Given the description of an element on the screen output the (x, y) to click on. 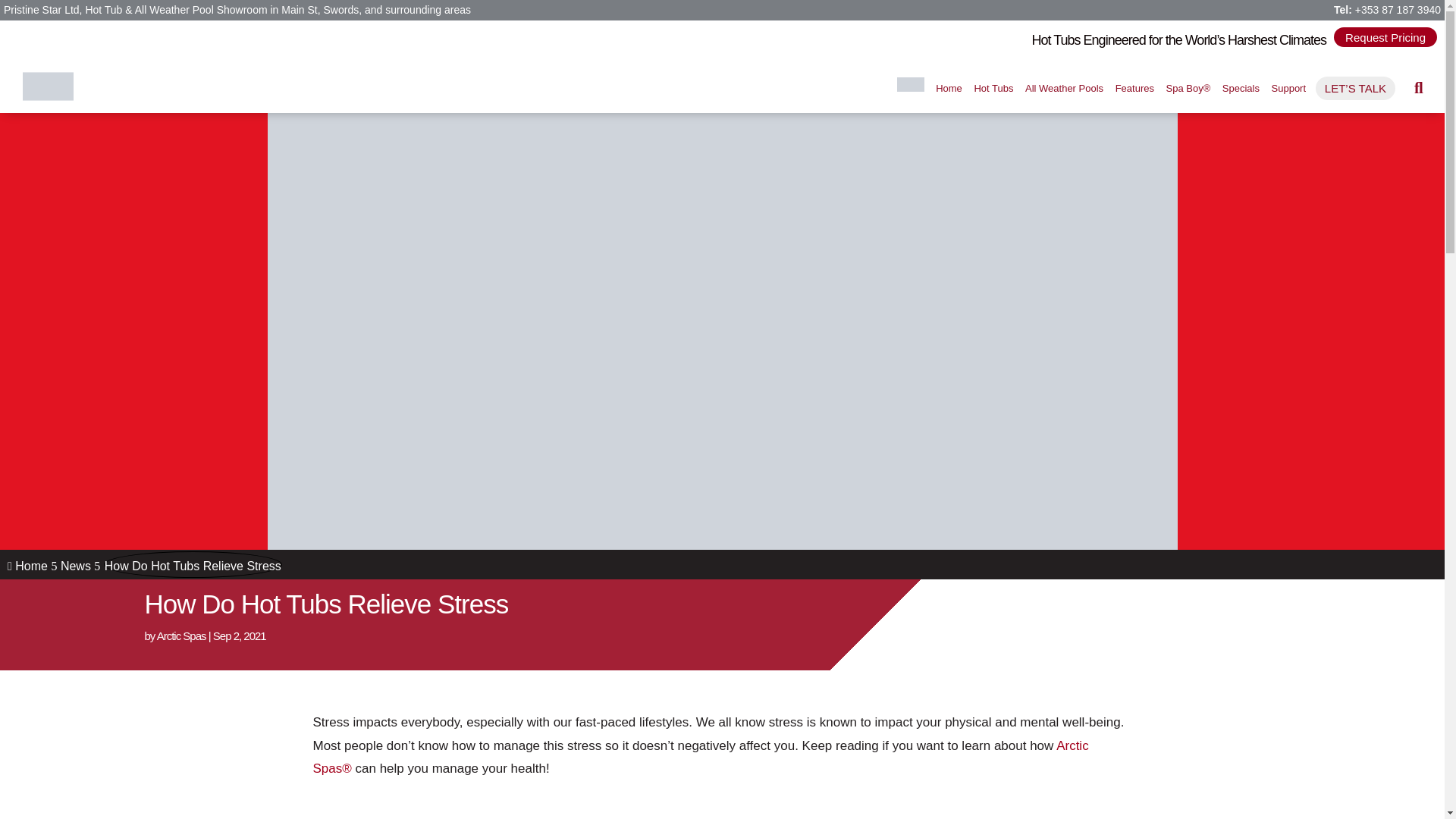
Choose Your Location (909, 88)
Request Pricing (1385, 36)
Home (948, 88)
Choose Your Location (910, 83)
Support (1287, 88)
Return to the home page (948, 88)
Hot Tubs (992, 88)
Features (1133, 88)
Specials (1240, 88)
All Weather Pools (1064, 88)
